Given the description of an element on the screen output the (x, y) to click on. 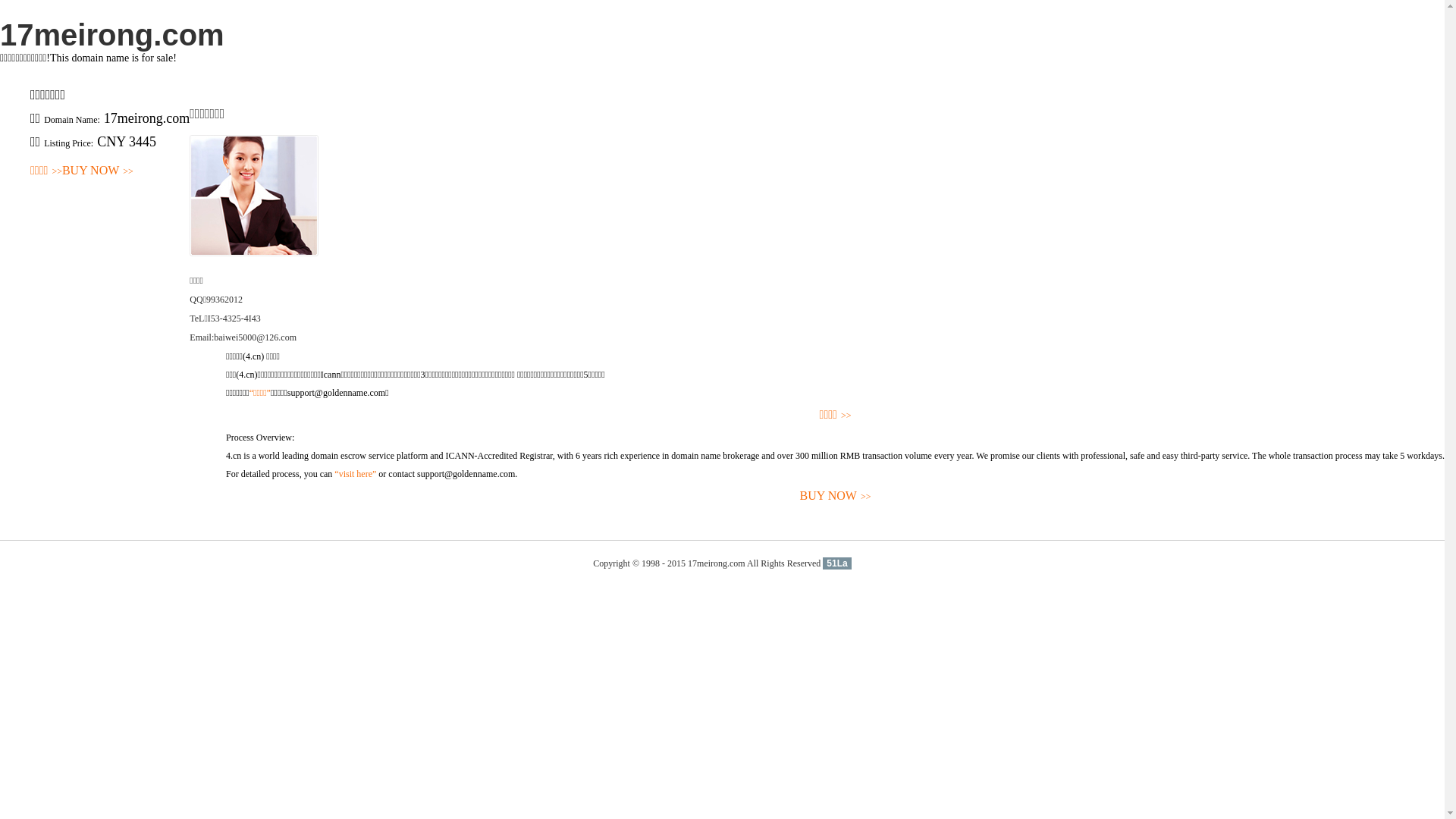
BUY NOW>> Element type: text (834, 496)
51La Element type: text (836, 563)
BUY NOW>> Element type: text (97, 170)
